Given the description of an element on the screen output the (x, y) to click on. 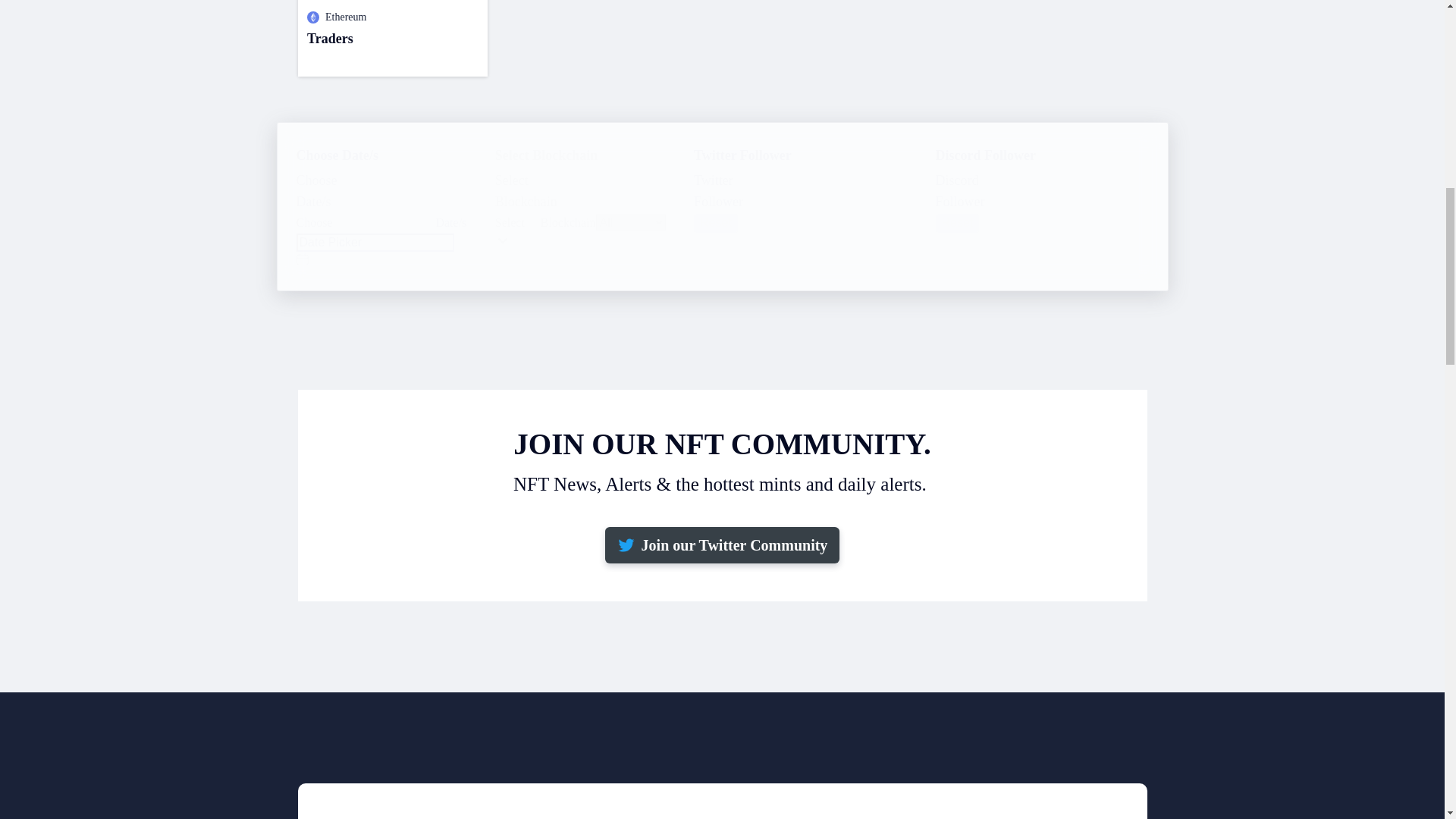
Join our Twitter Community (391, 38)
Reset (722, 545)
Reset (716, 222)
